Given the description of an element on the screen output the (x, y) to click on. 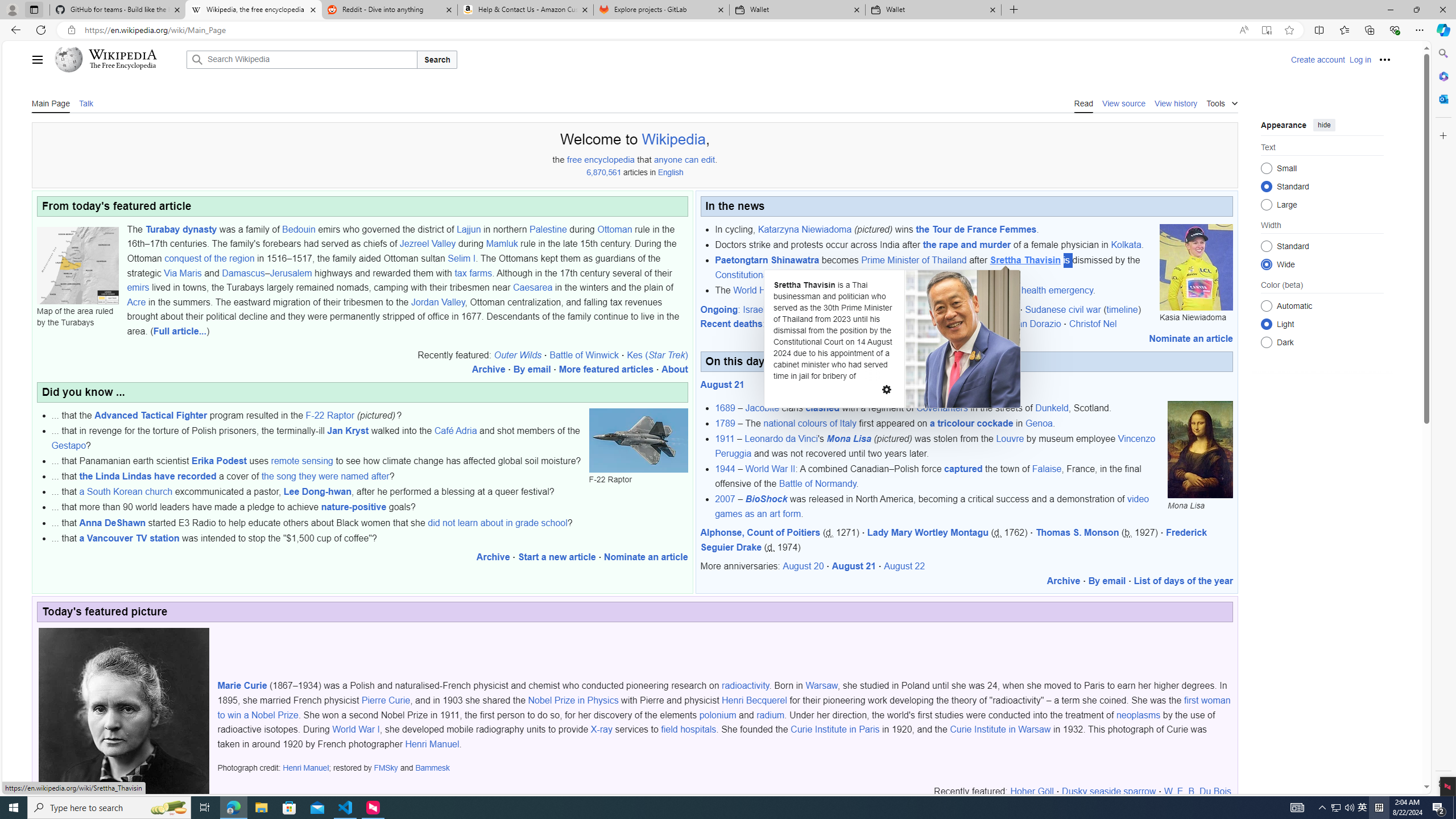
View source (1123, 102)
Nobel Prize in Physics (572, 700)
Charis Eng (789, 324)
Log in (1360, 58)
Wide (1266, 263)
Louvre (1010, 438)
Frederick Seguier Drake (953, 539)
Constitutional Court (754, 274)
Main menu (37, 59)
Map of the area ruled by the Turabays (77, 265)
